Given the description of an element on the screen output the (x, y) to click on. 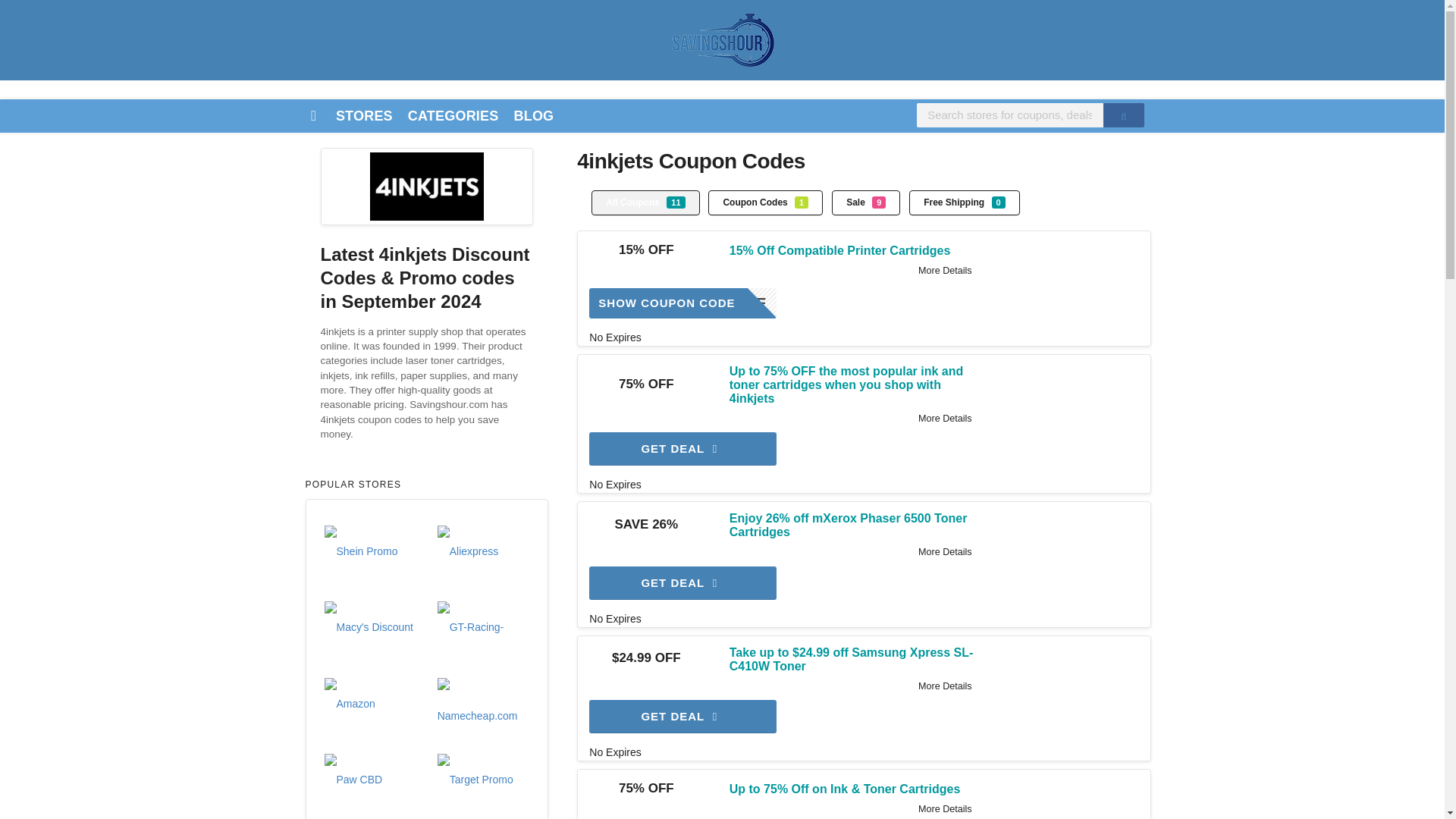
SavingsHour (721, 39)
GET DEAL (682, 449)
BLOG (532, 115)
More Details (682, 303)
All Coupons 11 (945, 686)
CATEGORIES (644, 202)
Free Shipping 0 (453, 115)
4inkjets Coupon Codes (963, 202)
Coupon Codes 1 (426, 186)
